Given the description of an element on the screen output the (x, y) to click on. 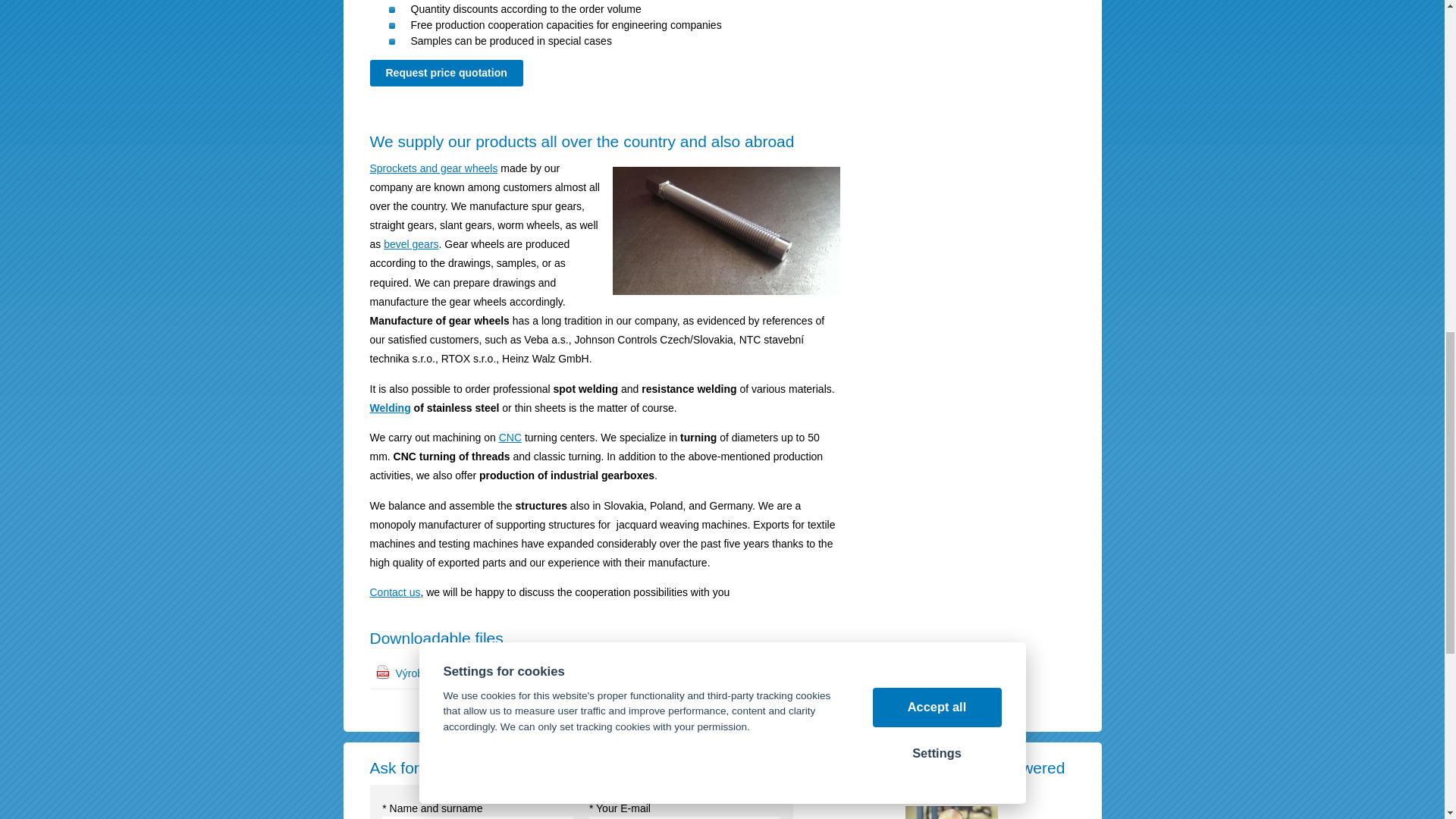
CNC (510, 437)
Sprockets and gear wheels (433, 168)
Request price quotation (445, 72)
Welding (389, 408)
bevel gears (411, 244)
Contact us (394, 592)
